Given the description of an element on the screen output the (x, y) to click on. 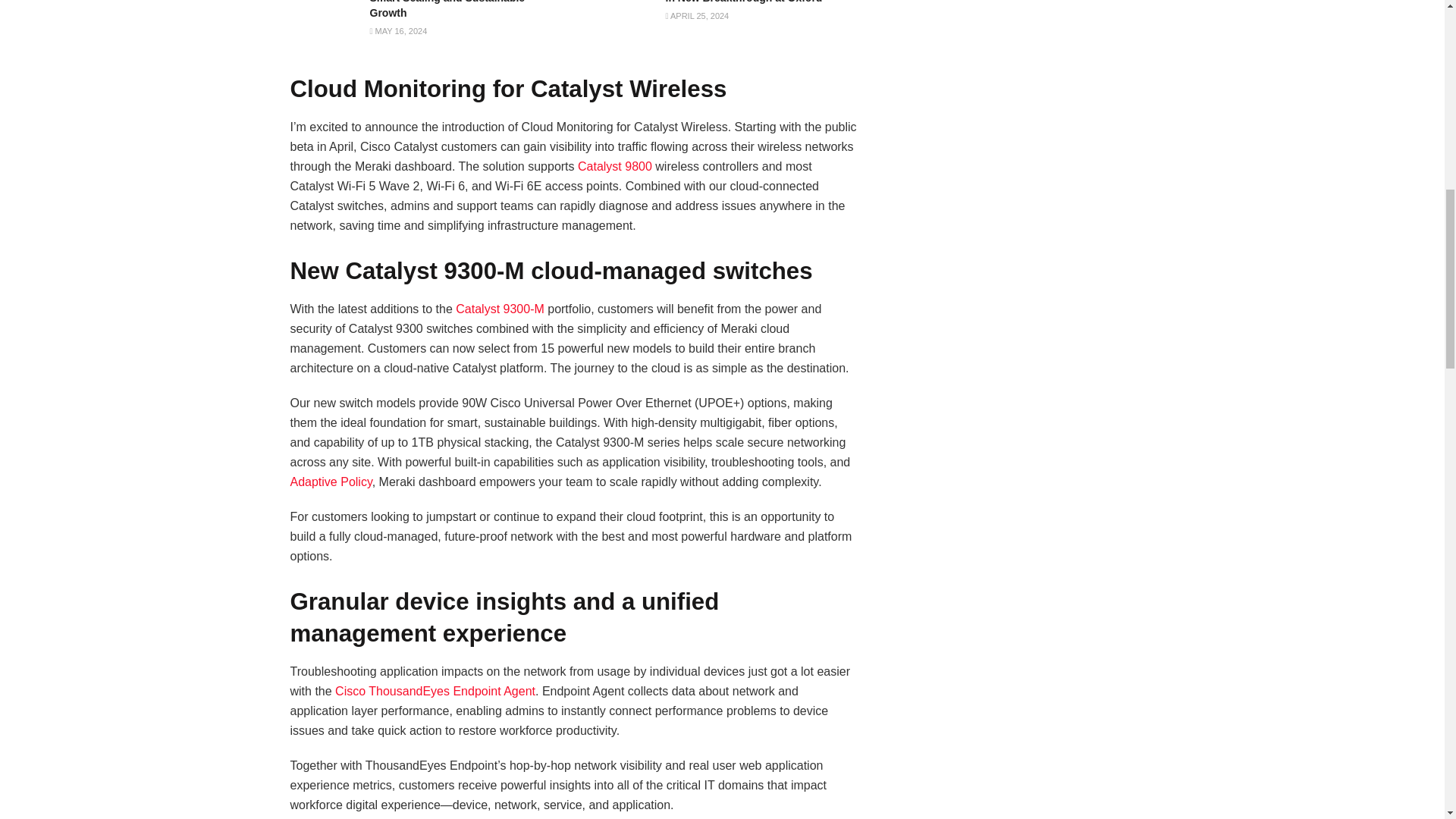
Adaptive Policy (330, 481)
Catalyst 9300-M (499, 308)
APRIL 25, 2024 (697, 15)
Cisco ThousandEyes Endpoint Agent (434, 690)
Catalyst 9800 (615, 165)
MAY 16, 2024 (398, 31)
